Given the description of an element on the screen output the (x, y) to click on. 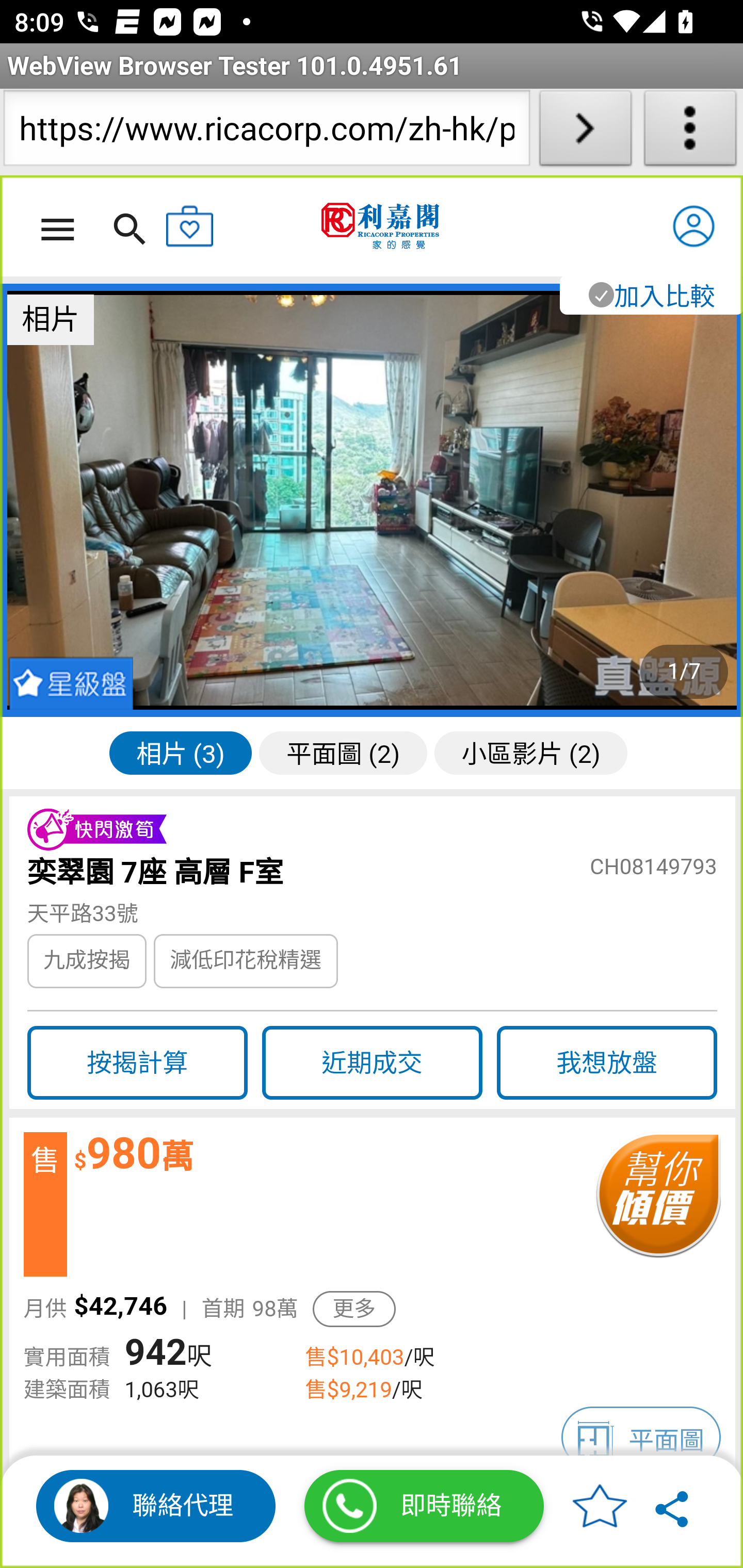
Load URL (585, 132)
About WebView (690, 132)
unchecked 加入比較 (650, 294)
image (372, 499)
相片 (3) (180, 752)
平面圖 (2) (342, 752)
小區影片 (2) (530, 752)
按揭計算 (136, 1062)
近期成交 (371, 1062)
我想放盤 (606, 1062)
negotiation (657, 1204)
更多 (353, 1309)
平面圖 (640, 1437)
Carrie Lee 聯絡代理 (156, 1505)
whatsapp 即時聯絡 (424, 1505)
Share button (672, 1505)
